Given the description of an element on the screen output the (x, y) to click on. 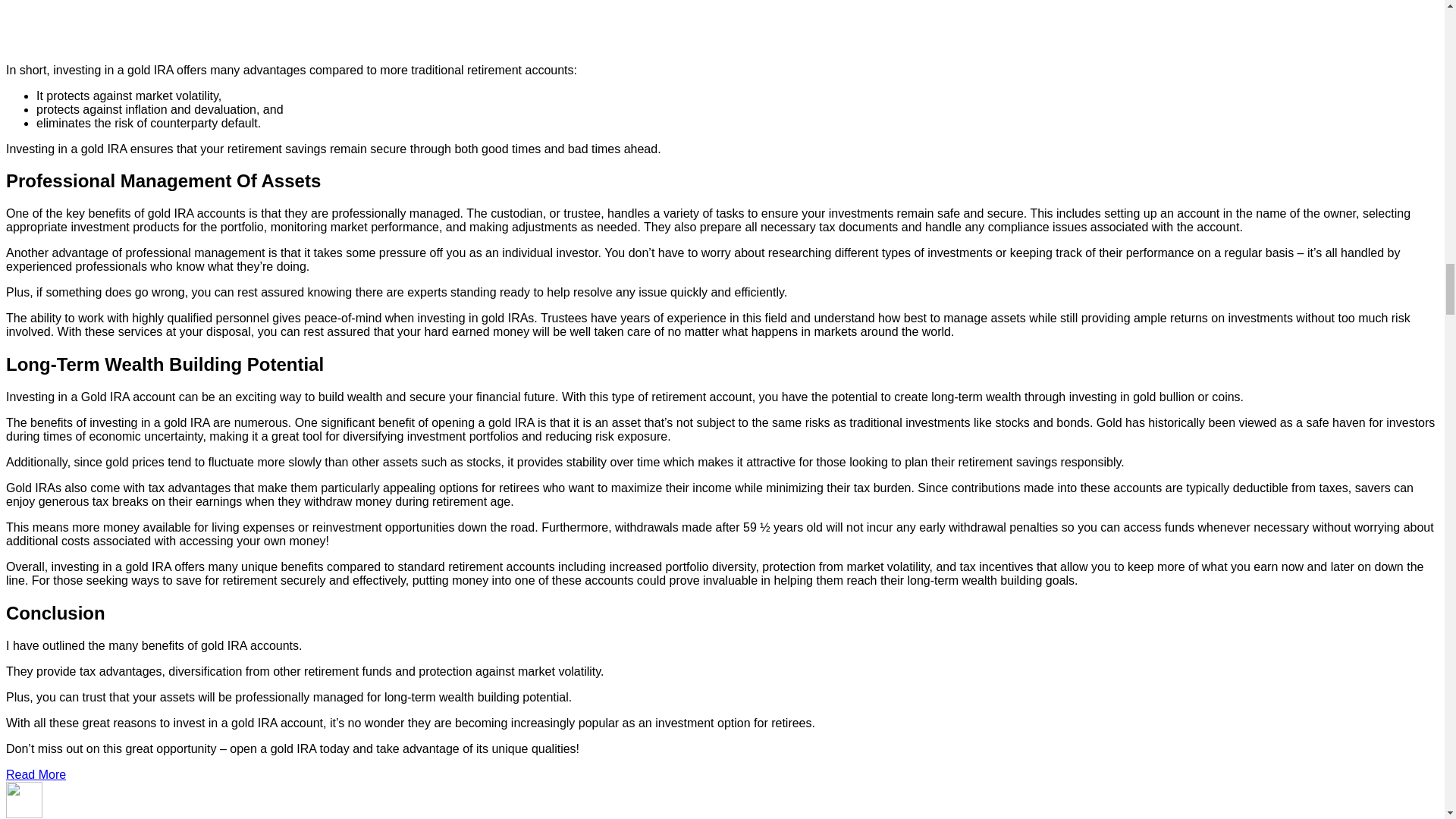
4 Facts About Gold IRA Storage (316, 24)
Read More (35, 774)
